Given the description of an element on the screen output the (x, y) to click on. 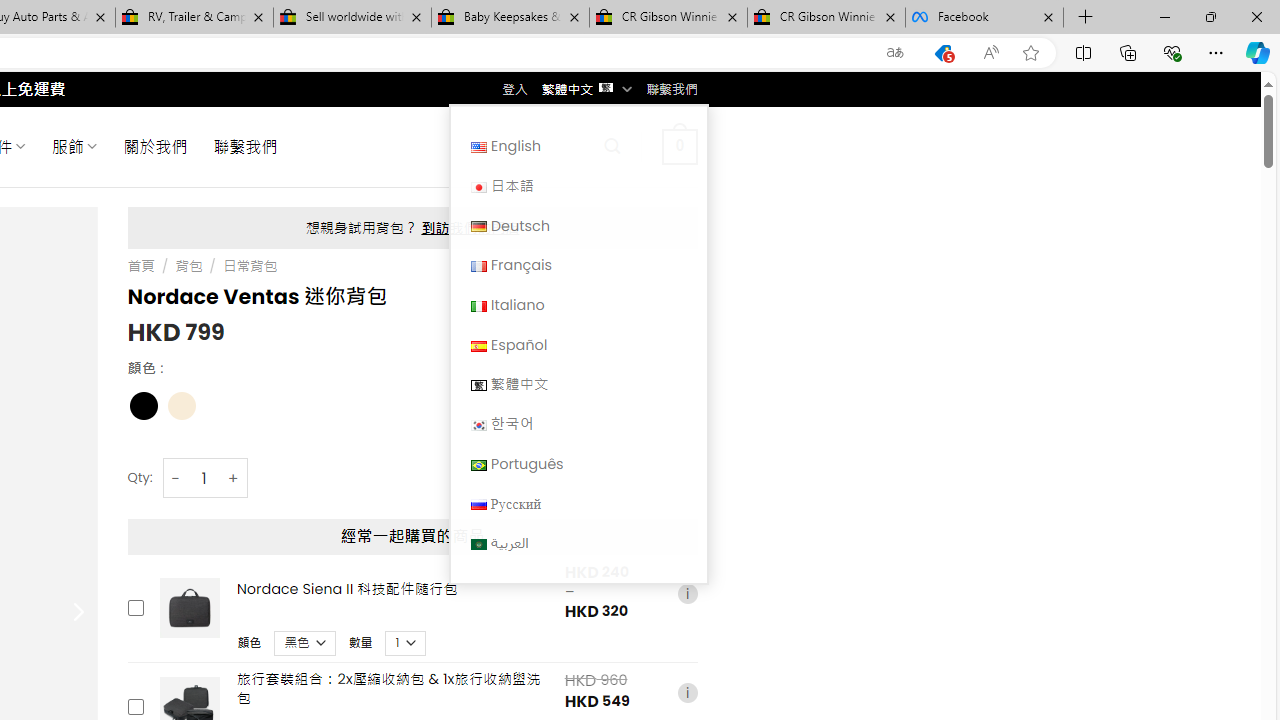
Italiano (478, 305)
Facebook (984, 17)
 Italiano (578, 303)
Add this product to cart (134, 707)
